Given the description of an element on the screen output the (x, y) to click on. 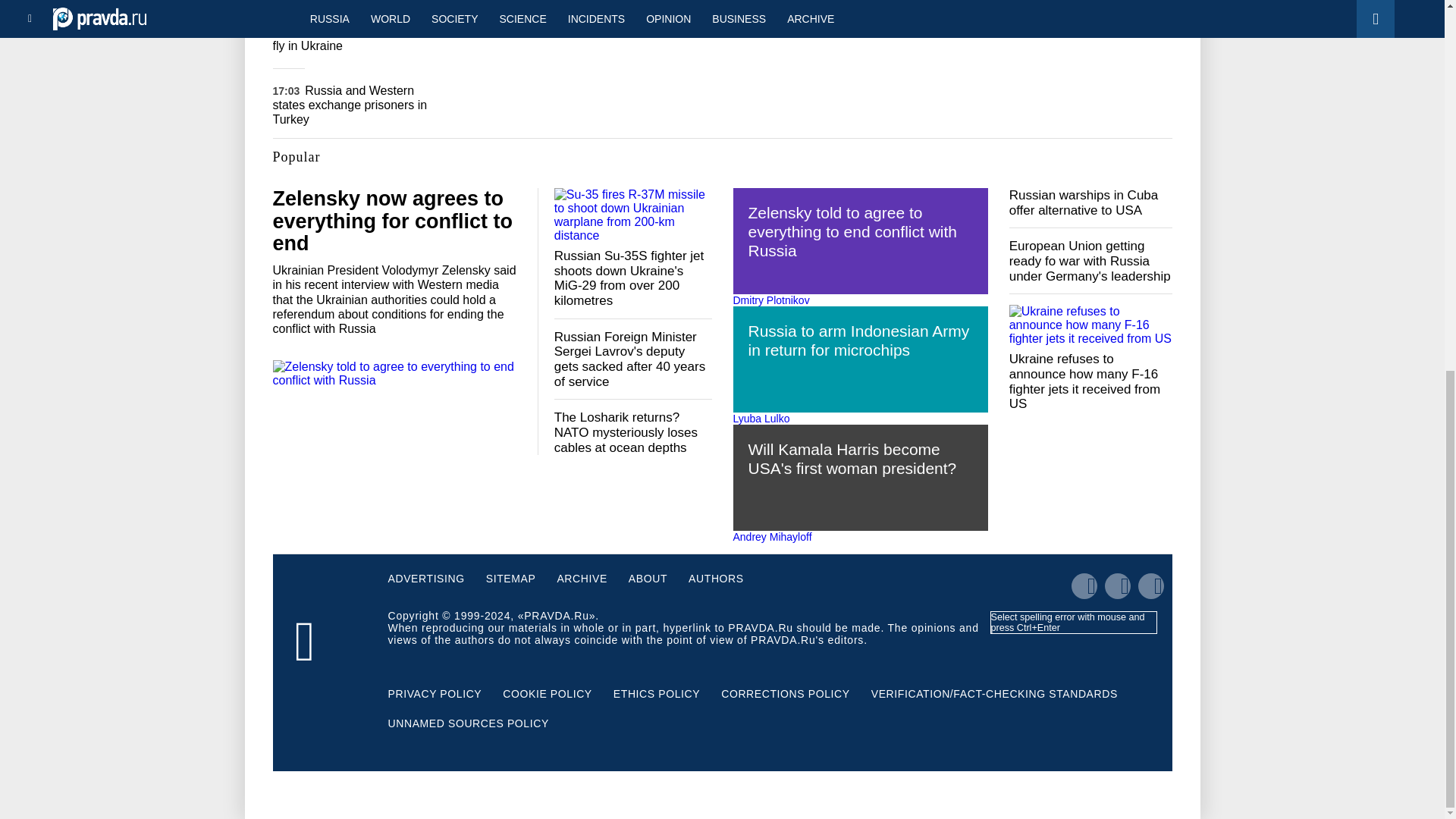
Back to top (1418, 225)
Russia and Western states exchange prisoners in Turkey (350, 105)
F-16 fighters already fly in Ukraine (344, 38)
